Given the description of an element on the screen output the (x, y) to click on. 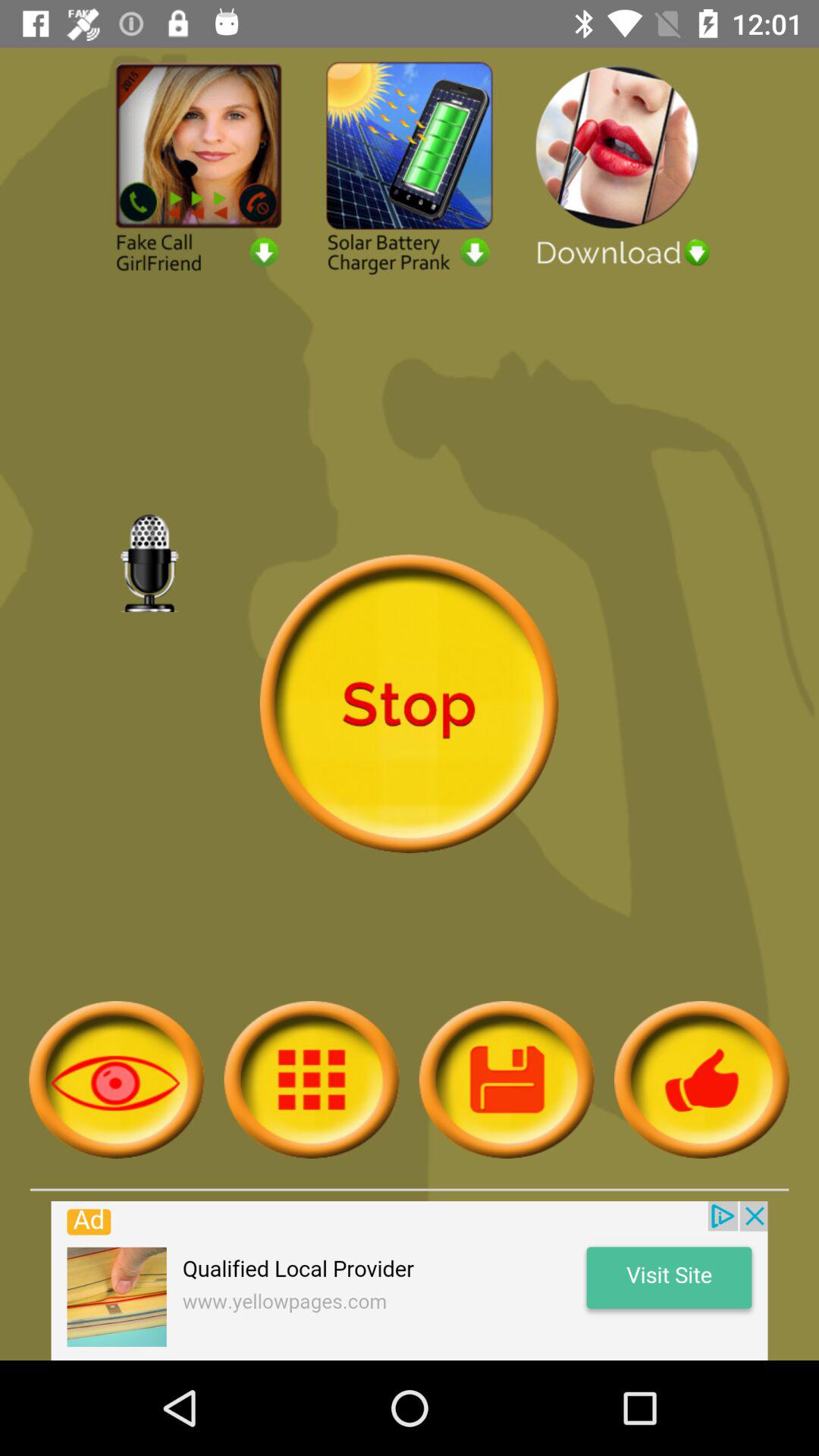
save recording (506, 1079)
